Given the description of an element on the screen output the (x, y) to click on. 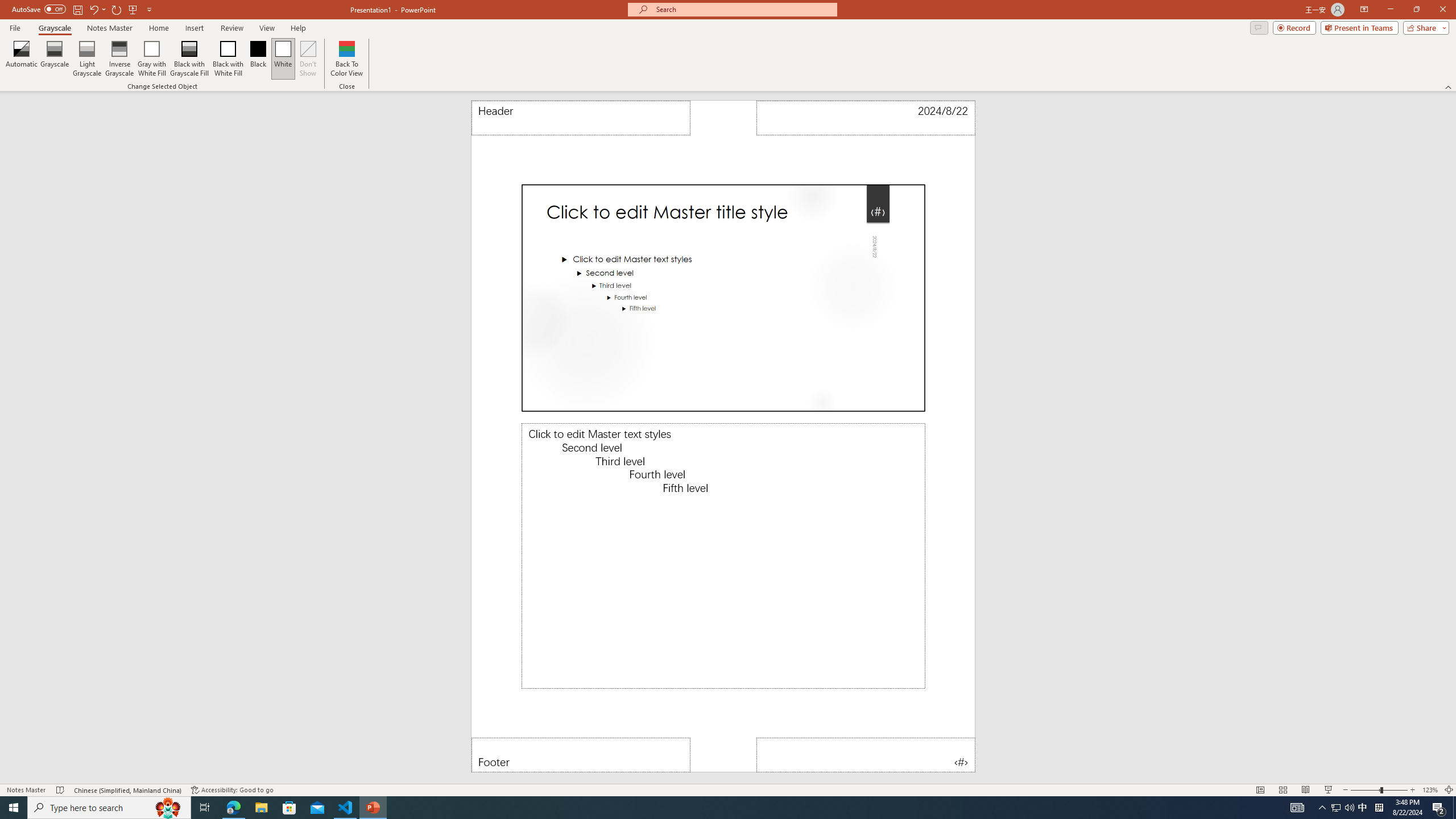
Date (866, 117)
Black with White Fill (227, 58)
Gray with White Fill (151, 58)
